Given the description of an element on the screen output the (x, y) to click on. 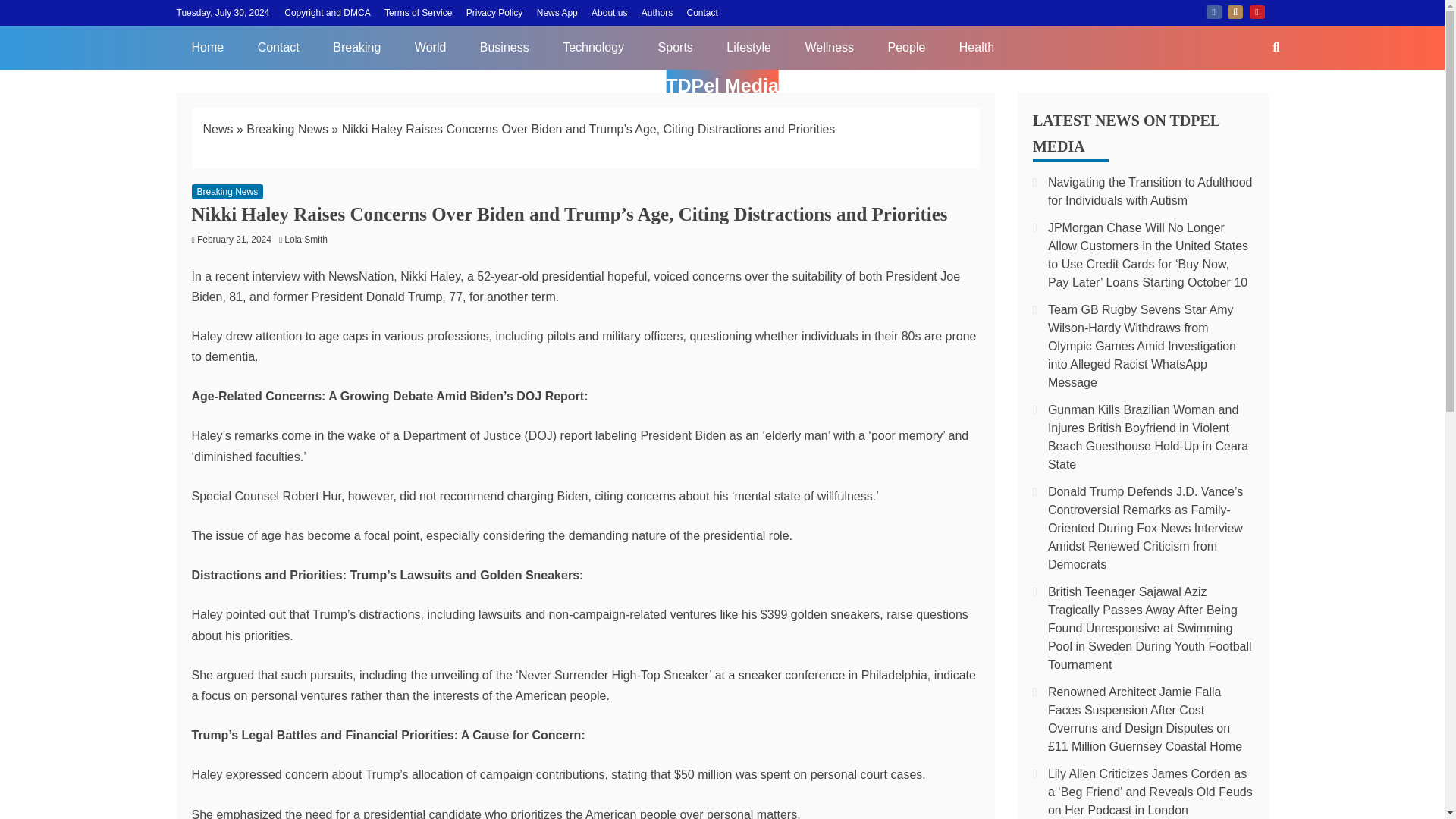
Health (976, 46)
People (906, 46)
February 21, 2024 (233, 239)
Authors (657, 12)
News App (557, 12)
Breaking (356, 46)
Business (504, 46)
Twitter (1235, 11)
Breaking News (226, 191)
Sports (675, 46)
Wellness (829, 46)
Contact (702, 12)
Breaking News (287, 128)
News (217, 128)
Technology (593, 46)
